Given the description of an element on the screen output the (x, y) to click on. 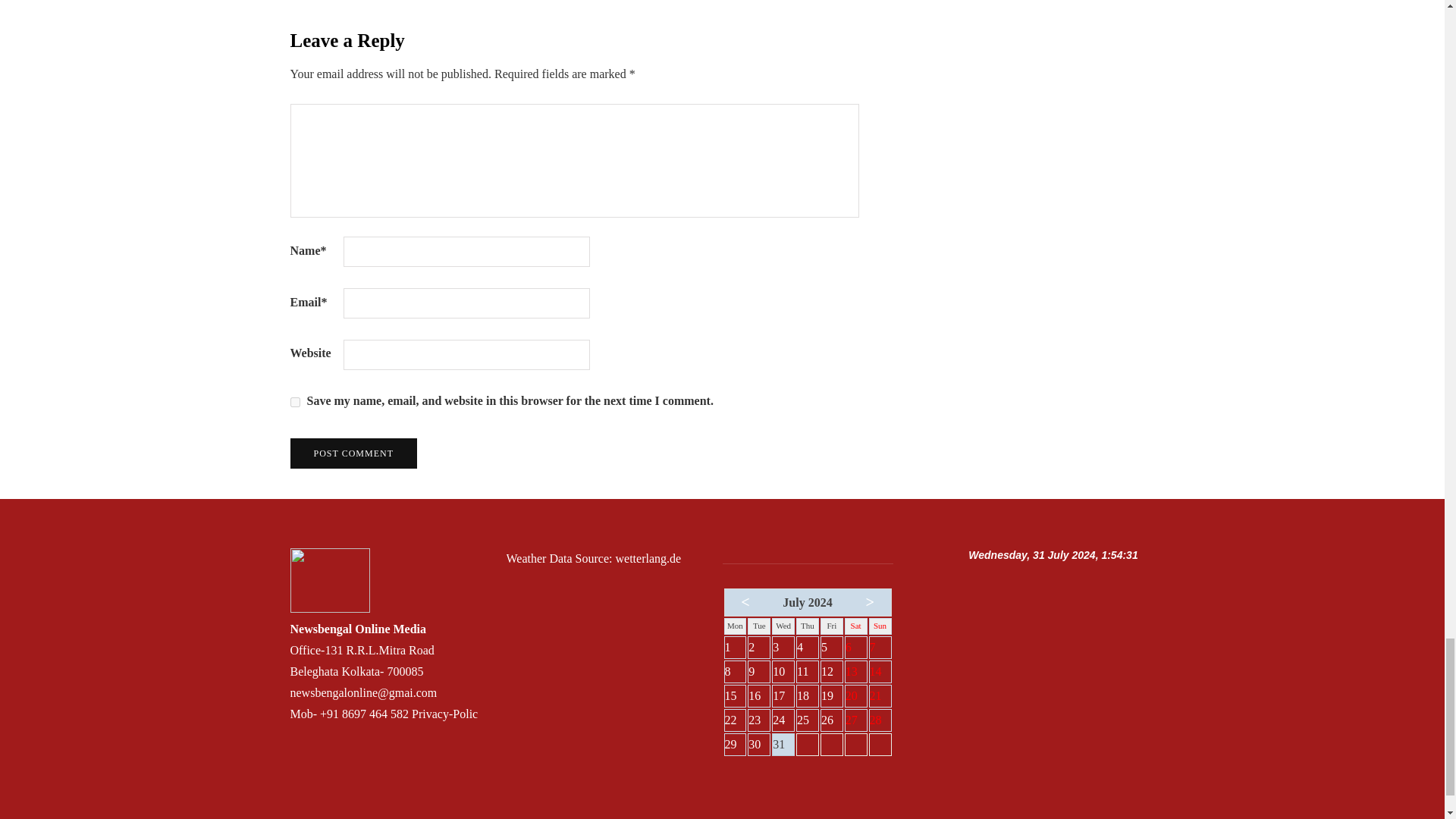
yes (294, 402)
Post comment (352, 453)
